Given the description of an element on the screen output the (x, y) to click on. 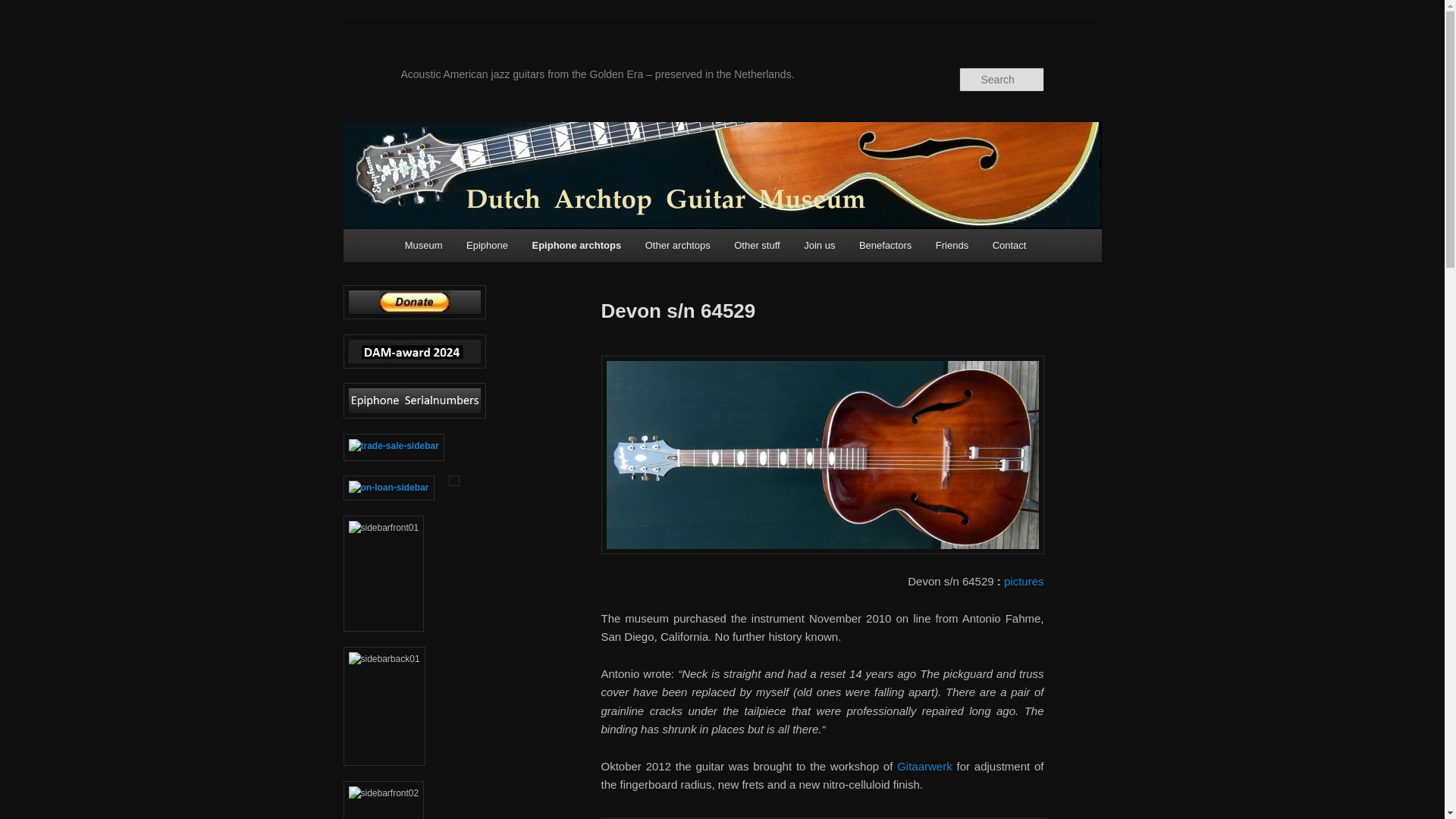
Museum (423, 245)
Epiphone archtops (576, 245)
Epiphone (486, 245)
Search (24, 8)
